Given the description of an element on the screen output the (x, y) to click on. 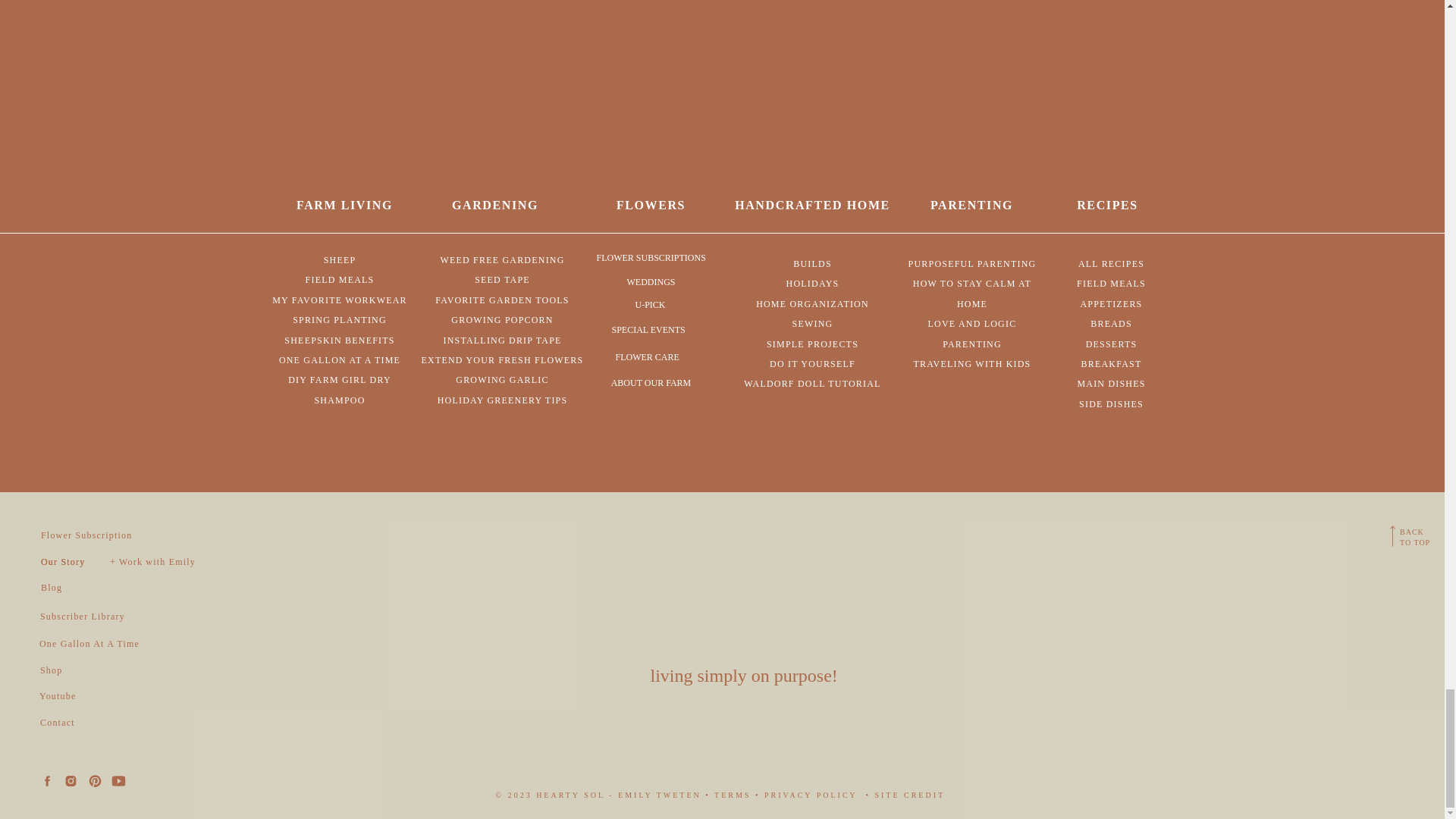
Hearty Sol Blog Emily Tweten 107 (111, 80)
Hearty Sol Blog Emily Tweten 114 (331, 80)
